Given the description of an element on the screen output the (x, y) to click on. 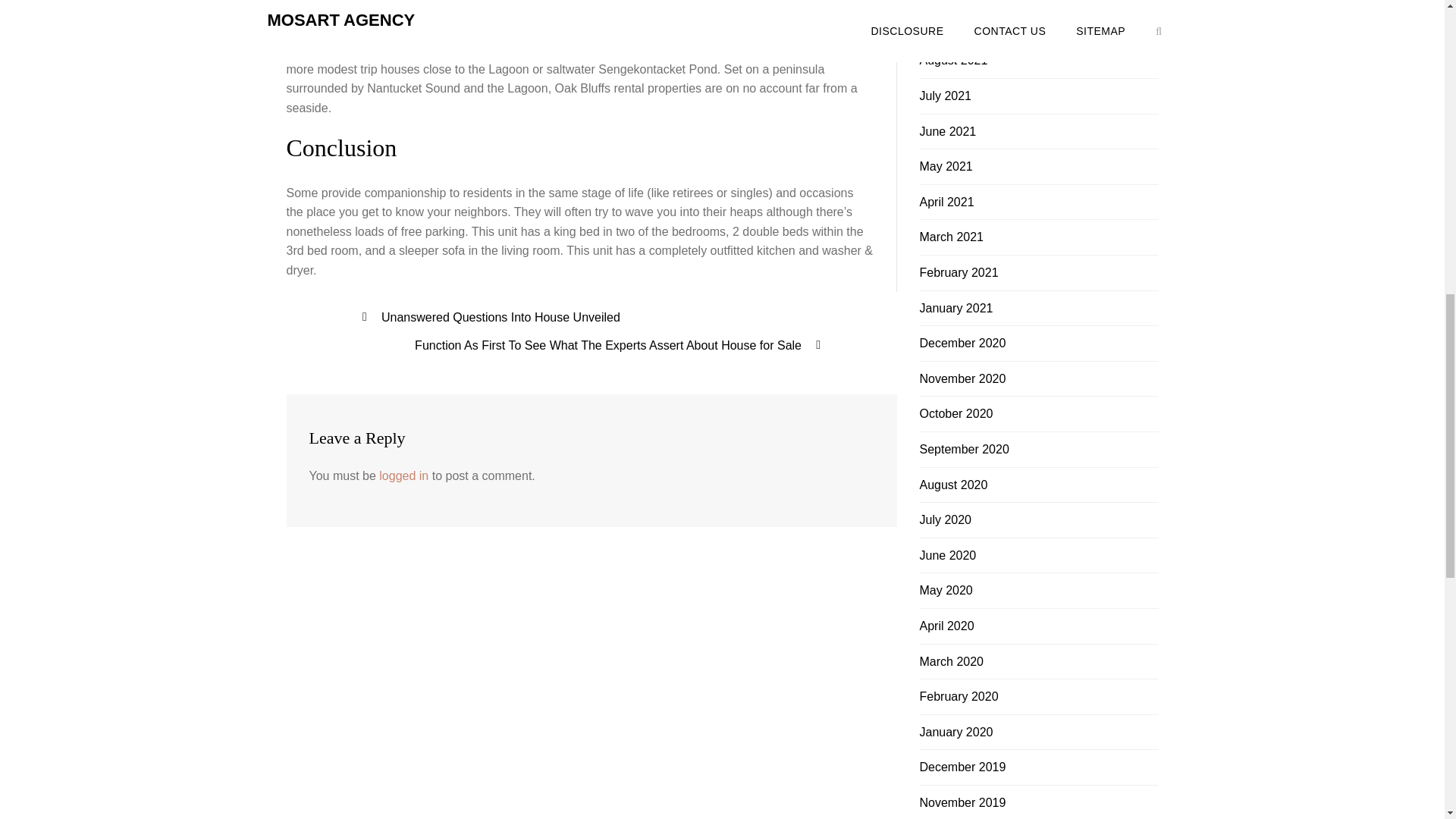
September 2020 (963, 449)
February 2021 (957, 272)
May 2021 (945, 165)
December 2020 (962, 342)
January 2022 (955, 24)
Unanswered Questions Into House Unveiled (500, 317)
June 2021 (946, 131)
March 2021 (951, 236)
October 2020 (955, 413)
